Given the description of an element on the screen output the (x, y) to click on. 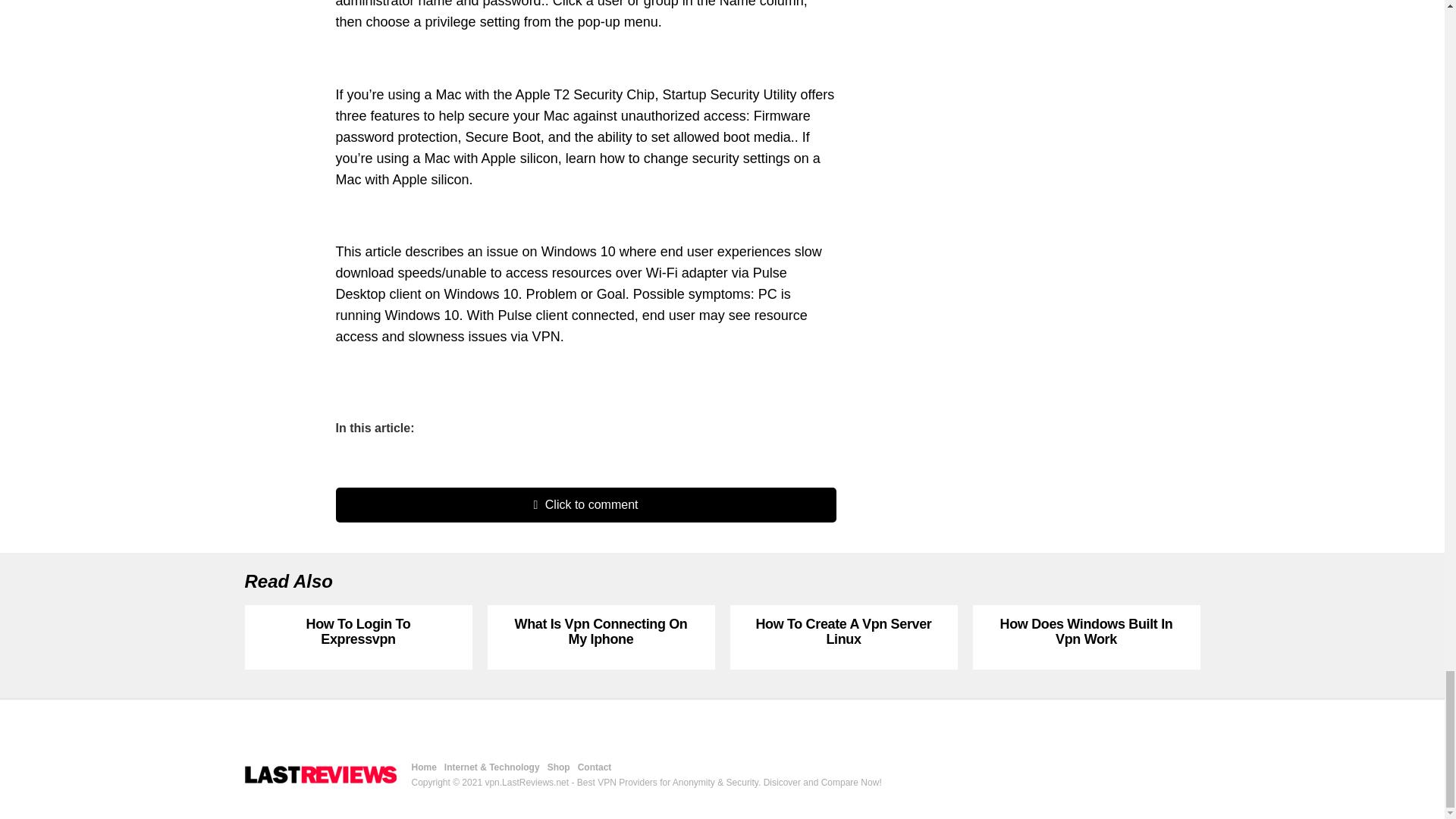
What Is Vpn Connecting On My Iphone (600, 632)
How To Create A Vpn Server Linux (843, 632)
How To Login To Expressvpn (357, 632)
